Given the description of an element on the screen output the (x, y) to click on. 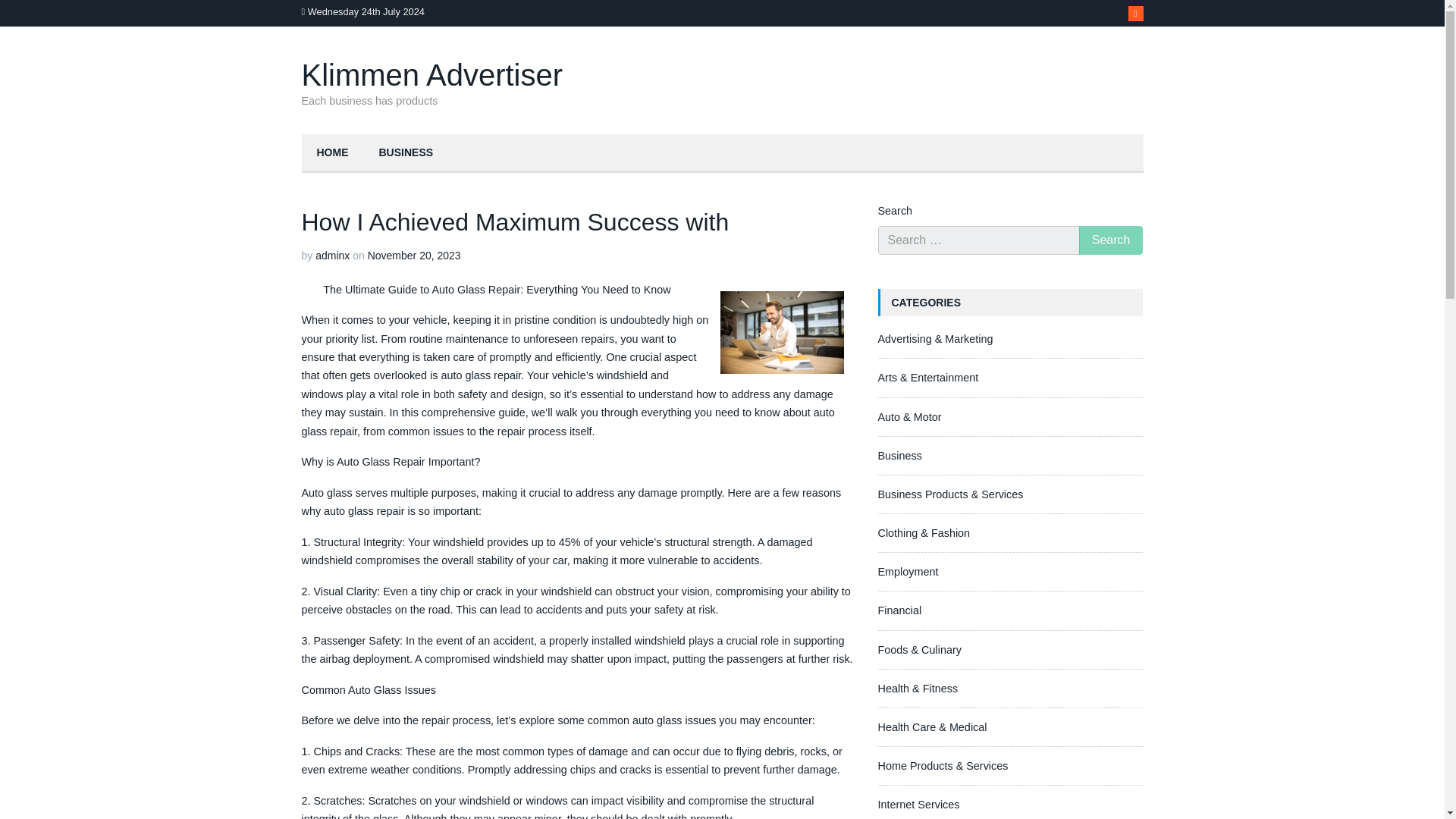
Business (899, 455)
Search (1110, 240)
Home (332, 153)
November 20, 2023 (414, 255)
Internet Services (918, 804)
Search (1110, 240)
adminx (332, 255)
Business (406, 153)
Employment (908, 571)
HOME (332, 153)
Klimmen Advertiser (432, 74)
Klimmen Advertiser (432, 74)
Financial (899, 610)
BUSINESS (406, 153)
